Given the description of an element on the screen output the (x, y) to click on. 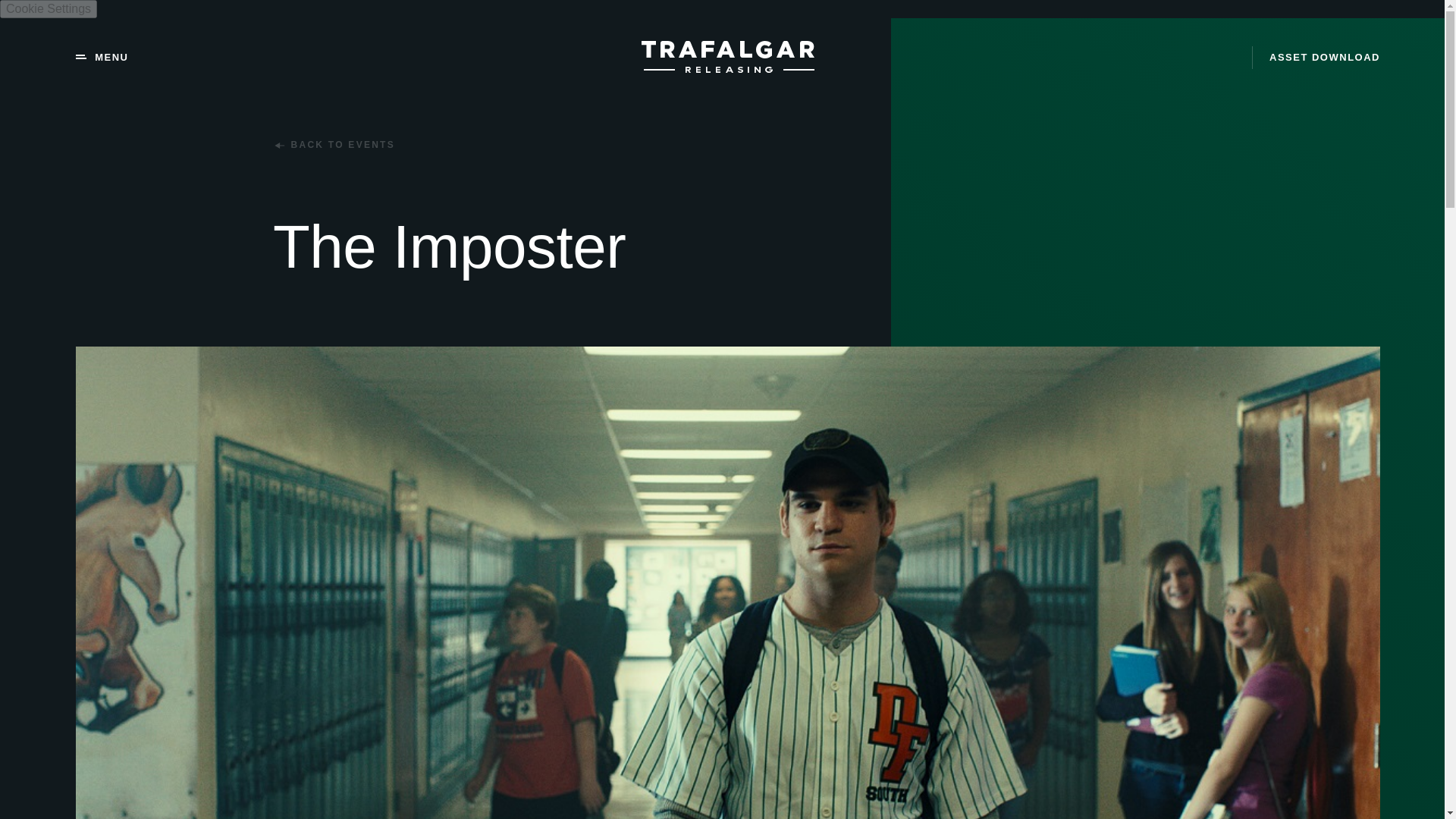
Cookie Settings (48, 9)
MENU (101, 57)
ASSET DOWNLOAD (1316, 56)
BACK TO EVENTS (333, 144)
